Given the description of an element on the screen output the (x, y) to click on. 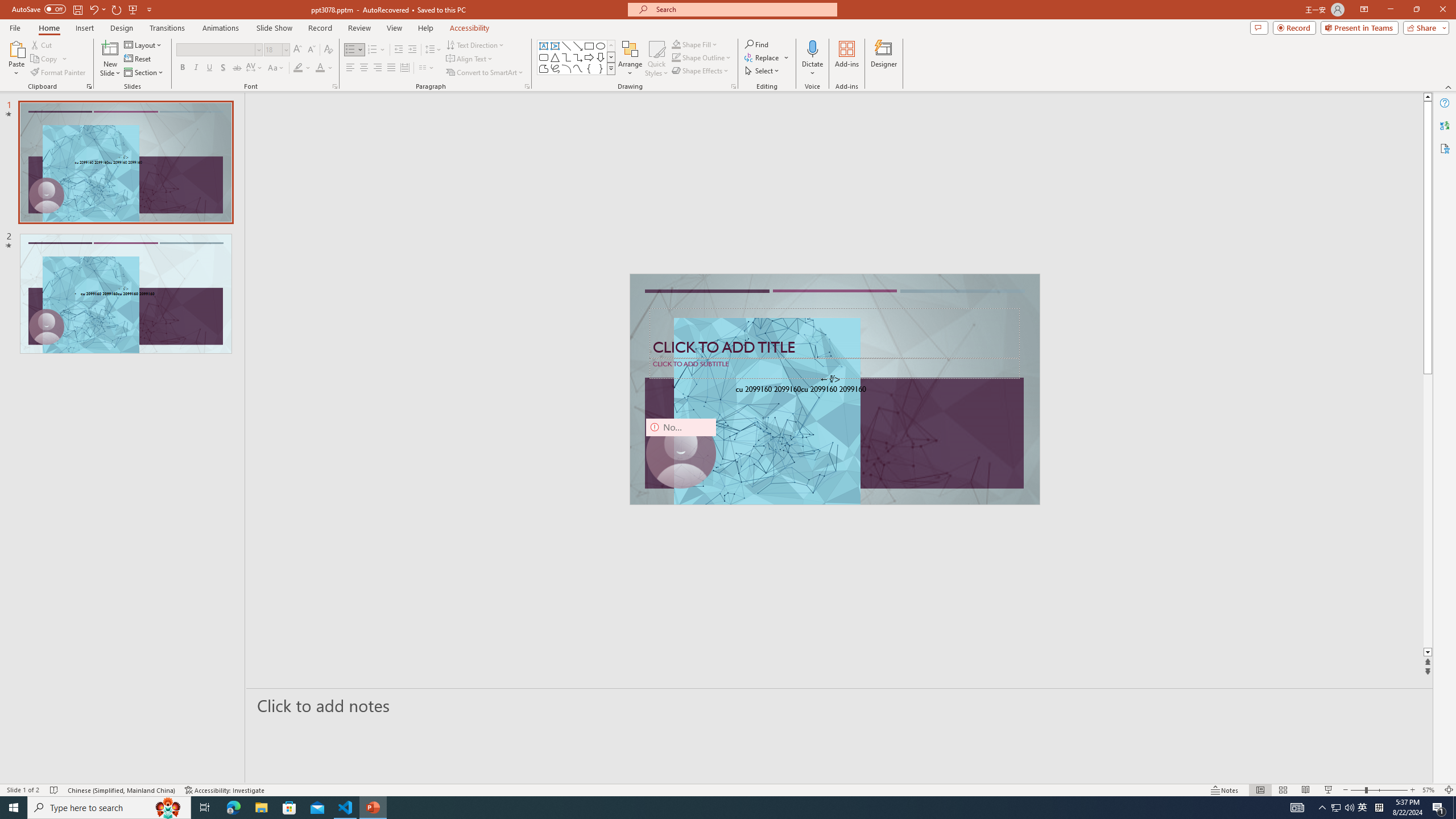
Slide Notes (839, 705)
Subtitle TextBox (834, 367)
Rectangle (589, 45)
Paste (16, 58)
Quick Styles (656, 58)
Bullets (349, 49)
Align Left (349, 67)
Format Painter (58, 72)
Left Brace (589, 68)
Microsoft search (742, 9)
Shadow (223, 67)
Vertical Text Box (554, 45)
Line up (1427, 96)
